Given the description of an element on the screen output the (x, y) to click on. 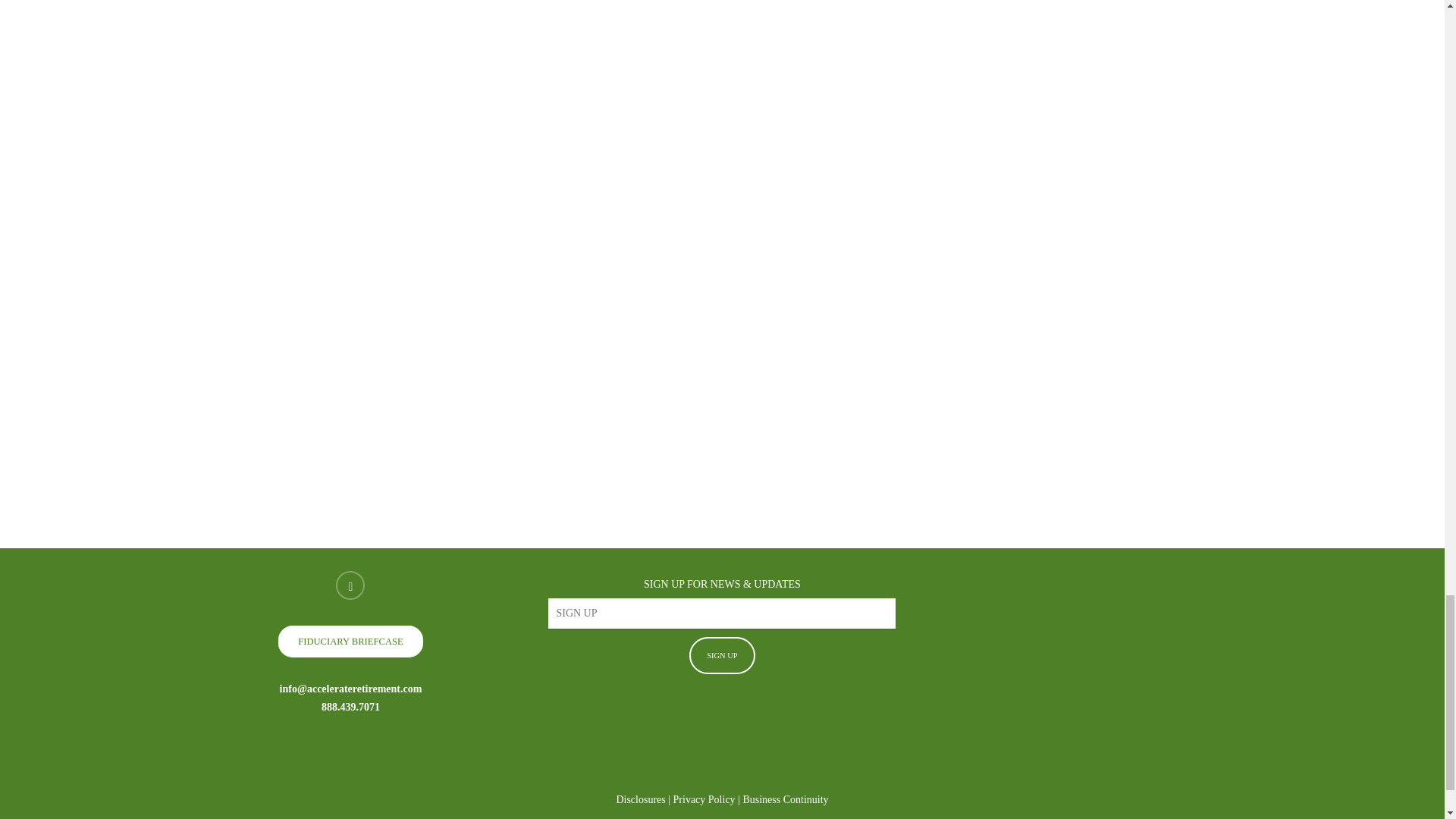
Accelerate Retirement Disclosure Statement (640, 799)
FIDUCIARY BRIEFCASE (350, 641)
Disclosures (640, 799)
SIGN UP (721, 655)
Business Continuity (785, 799)
888.439.7071 (350, 706)
Privacy Policy (703, 799)
SIGN UP (721, 655)
